Given the description of an element on the screen output the (x, y) to click on. 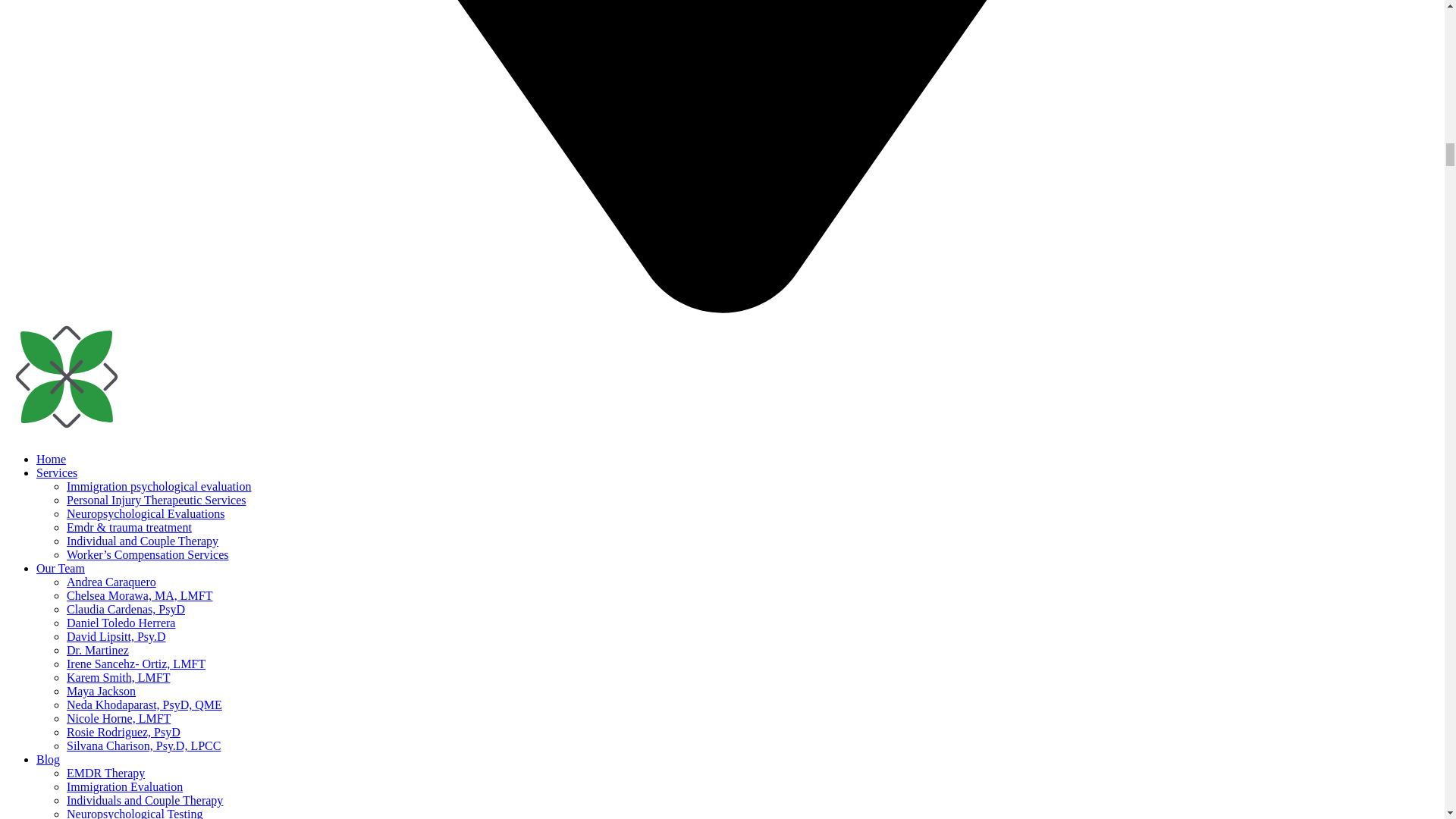
Silvana Charison, Psy.D, LPCC (143, 745)
Our Team (60, 567)
Irene Sancehz- Ortiz, LMFT (135, 663)
Home (50, 459)
Maya Jackson (100, 690)
Daniel Toledo Herrera (120, 622)
Blog (47, 758)
EMDR Therapy (105, 772)
Immigration psychological evaluation (158, 486)
David Lipsitt, Psy.D (115, 635)
Individual and Couple Therapy (142, 540)
Claudia Cardenas, PsyD (125, 608)
Neda Khodaparast, PsyD, QME (144, 704)
Immigration Evaluation (124, 786)
Nicole Horne, LMFT (118, 717)
